Given the description of an element on the screen output the (x, y) to click on. 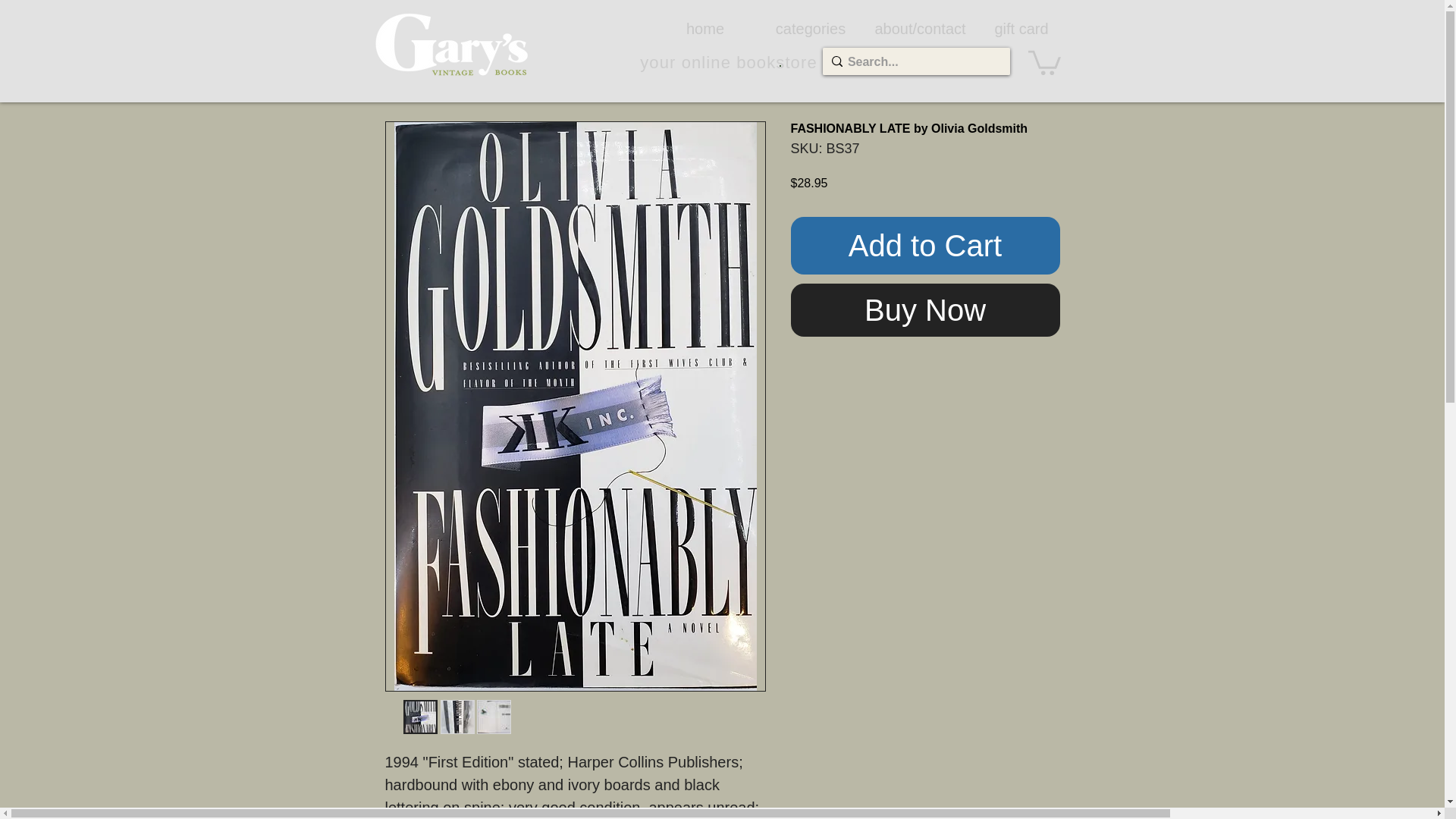
home (704, 28)
categories (810, 28)
Add to Cart (924, 245)
Buy Now (924, 309)
your online bookstore (728, 62)
gift card (1021, 28)
